Given the description of an element on the screen output the (x, y) to click on. 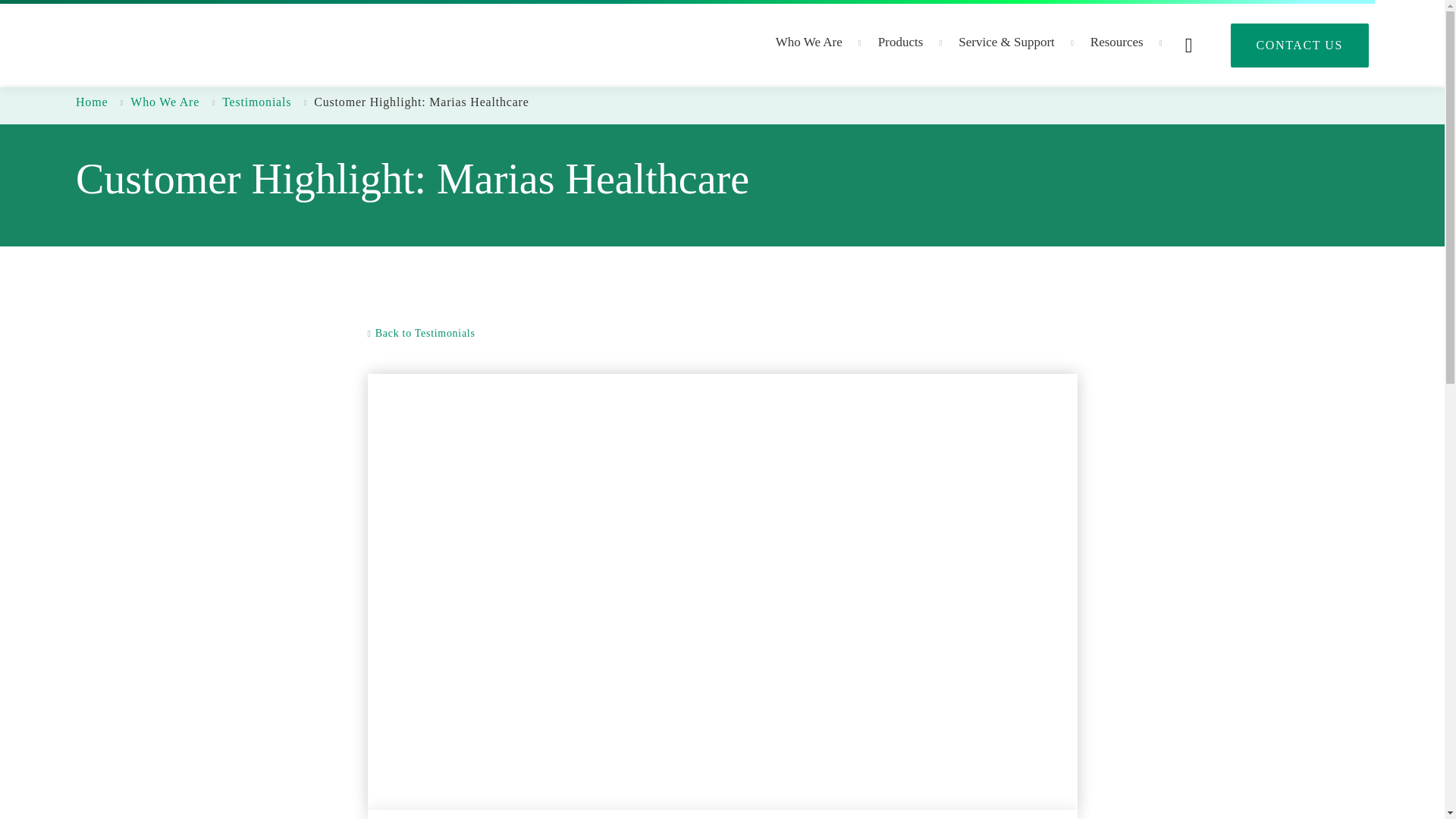
CONTACT US (1299, 45)
Who We Are (809, 52)
Products (901, 52)
